Given the description of an element on the screen output the (x, y) to click on. 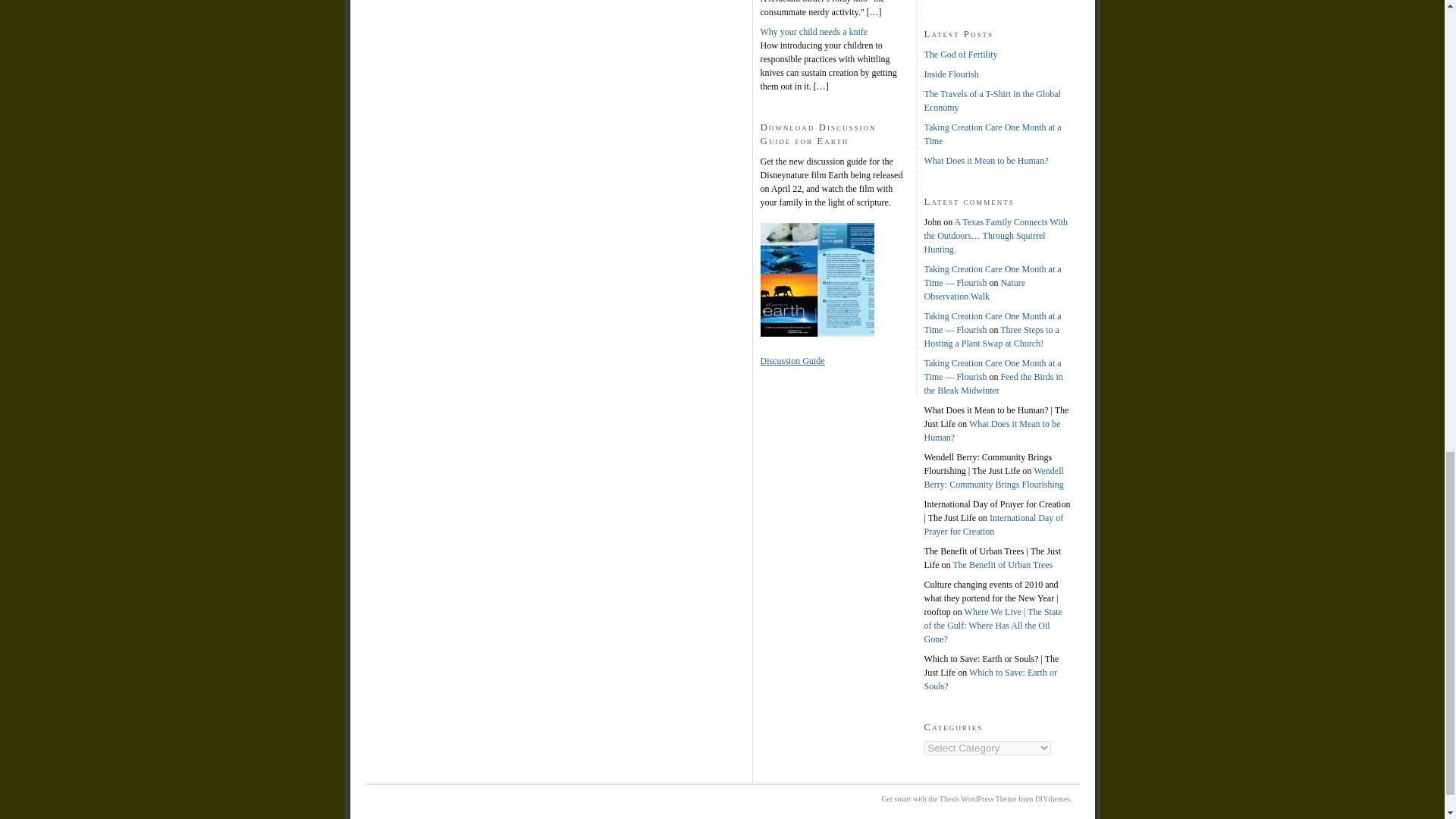
The God of Fertility (960, 54)
Taking Creation Care One Month at a Time (992, 134)
Wendell Berry: Community Brings Flourishing (992, 477)
Why your child needs a knife (813, 31)
Feed the Birds in the Bleak Midwinter (992, 383)
Inside Flourish (950, 73)
Three Steps to a Hosting a Plant Swap at Church! (990, 336)
What Does it Mean to be Human? (985, 160)
Discussion Guide (792, 360)
What Does it Mean to be Human? (991, 430)
